Given the description of an element on the screen output the (x, y) to click on. 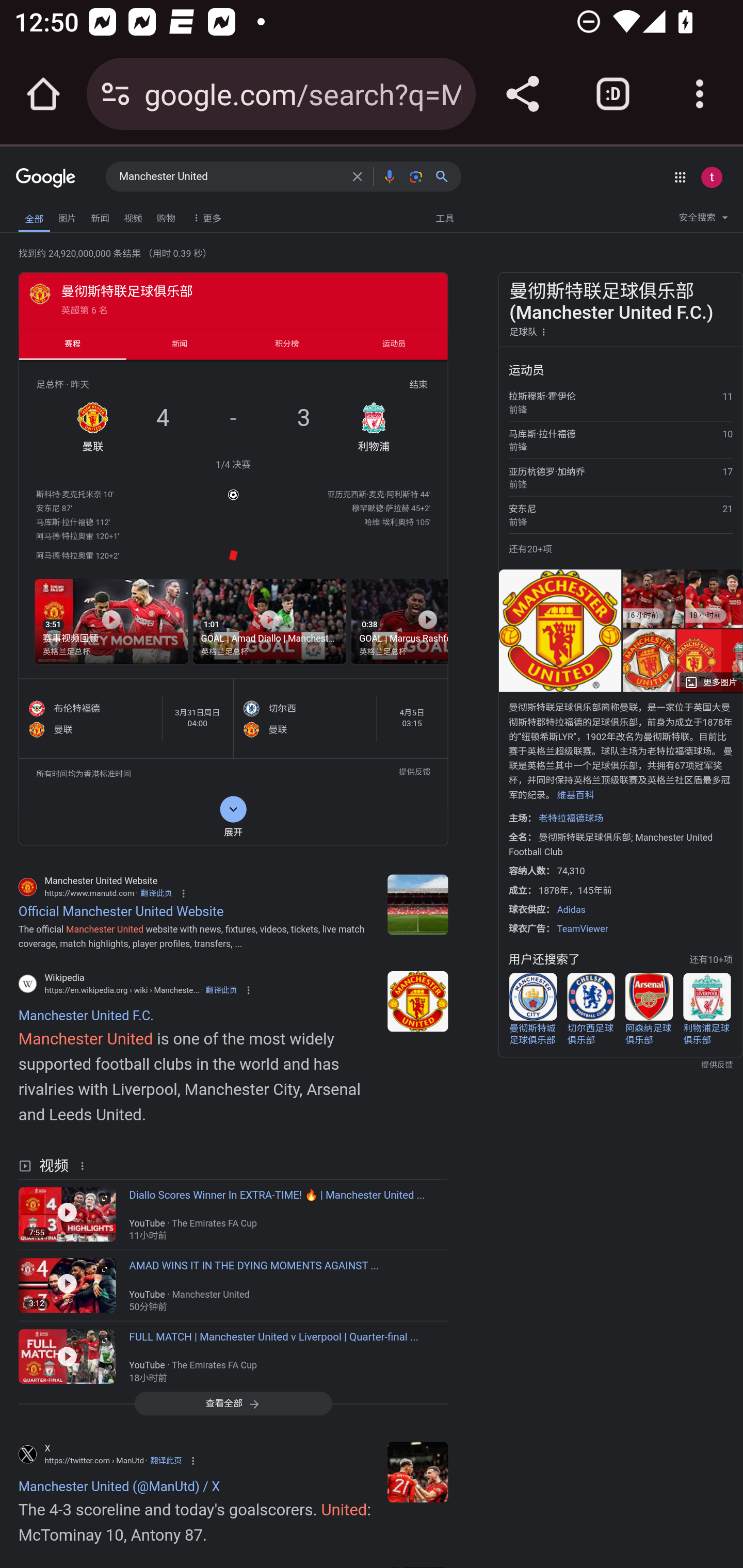
Open the home page (43, 93)
Connection is secure (115, 93)
Share (522, 93)
Switch or close tabs (612, 93)
Customize and control Google Chrome (699, 93)
清除 (357, 176)
按语音搜索 (388, 176)
按图搜索 (415, 176)
搜索 (445, 176)
Google 应用 (679, 176)
Google 账号： test appium (testappium002@gmail.com) (711, 176)
Google (45, 178)
Manchester United (229, 177)
无障碍功能反馈 (42, 212)
图片 (67, 216)
新闻 (99, 216)
视频 (133, 216)
购物 (166, 216)
更多 (205, 216)
安全搜索 (703, 219)
工具 (443, 216)
曼彻斯特联足球俱乐部 英超第 6 名 曼彻斯特联足球俱乐部 英超第 6 名 (232, 299)
赛程 (71, 343)
新闻 (179, 343)
积分榜 (286, 343)
运动员 (394, 343)
提供反馈 (413, 773)
展开 (232, 826)
www.manutd (417, 903)
翻译此页 (156, 891)
Manchester_United_F.C (417, 1000)
翻译此页 (221, 989)
关于这条结果的详细信息 (85, 1164)
查看全部 (233, 1403)
ManUtd (417, 1471)
翻译此页 (165, 1461)
